Given the description of an element on the screen output the (x, y) to click on. 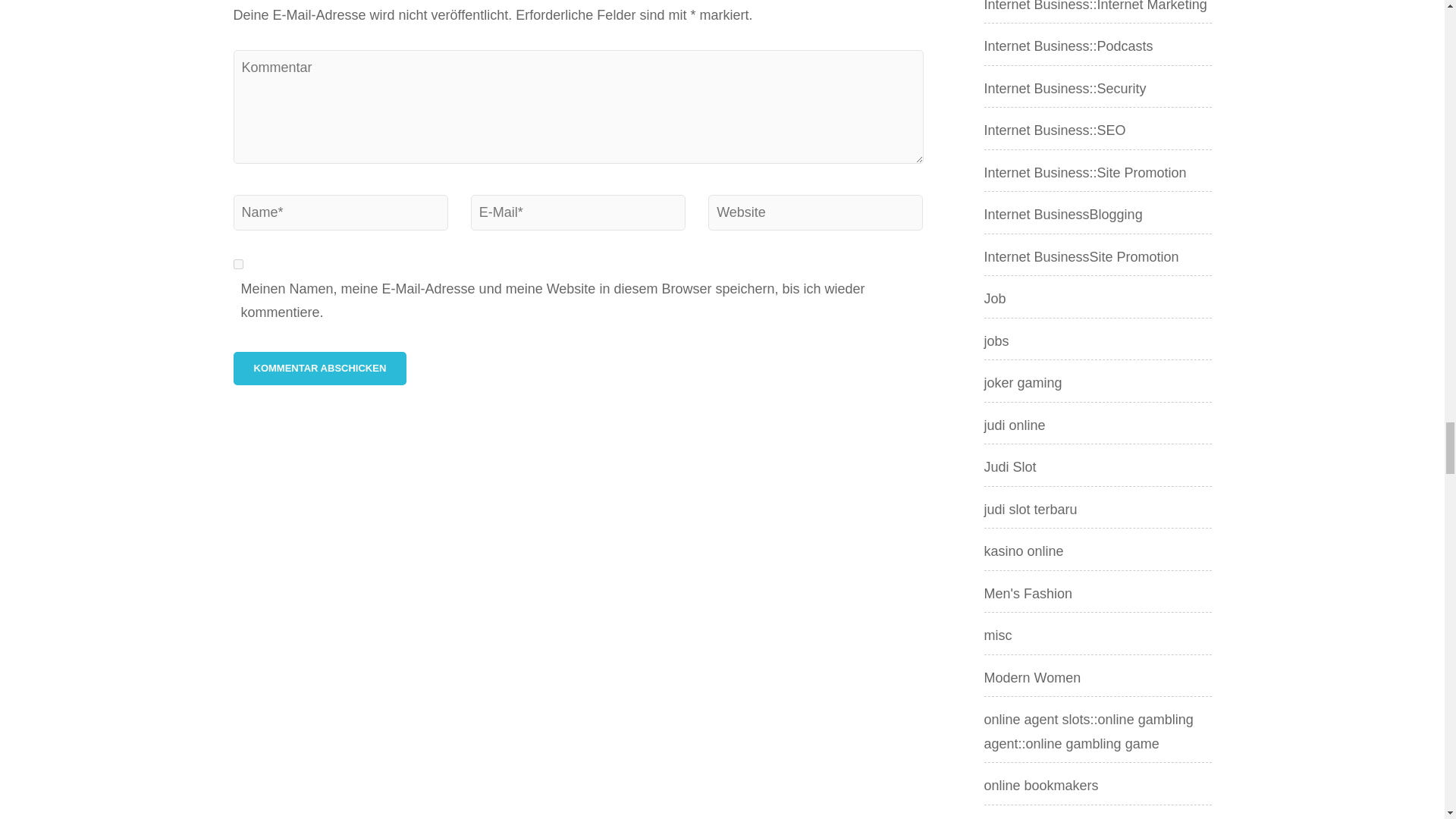
yes (237, 264)
Kommentar abschicken (319, 368)
